Given the description of an element on the screen output the (x, y) to click on. 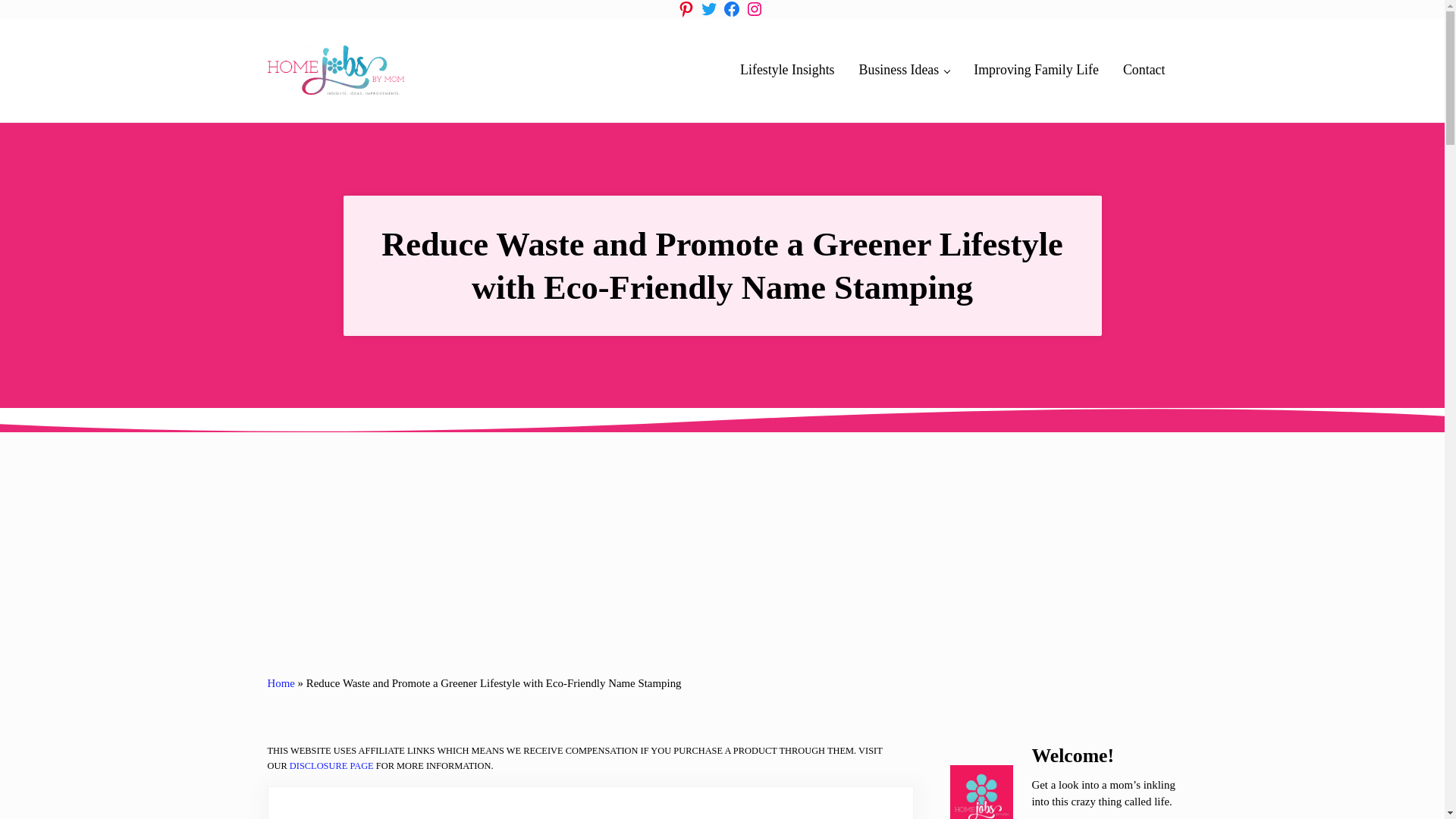
Business Ideas (904, 69)
Pinterest (685, 9)
DISCLOSURE PAGE (331, 765)
Contact (1143, 69)
Facebook (730, 9)
Improving Family Life (1035, 69)
Home (280, 683)
Lifestyle Insights (787, 69)
Twitter (707, 9)
Instagram (753, 9)
